Given the description of an element on the screen output the (x, y) to click on. 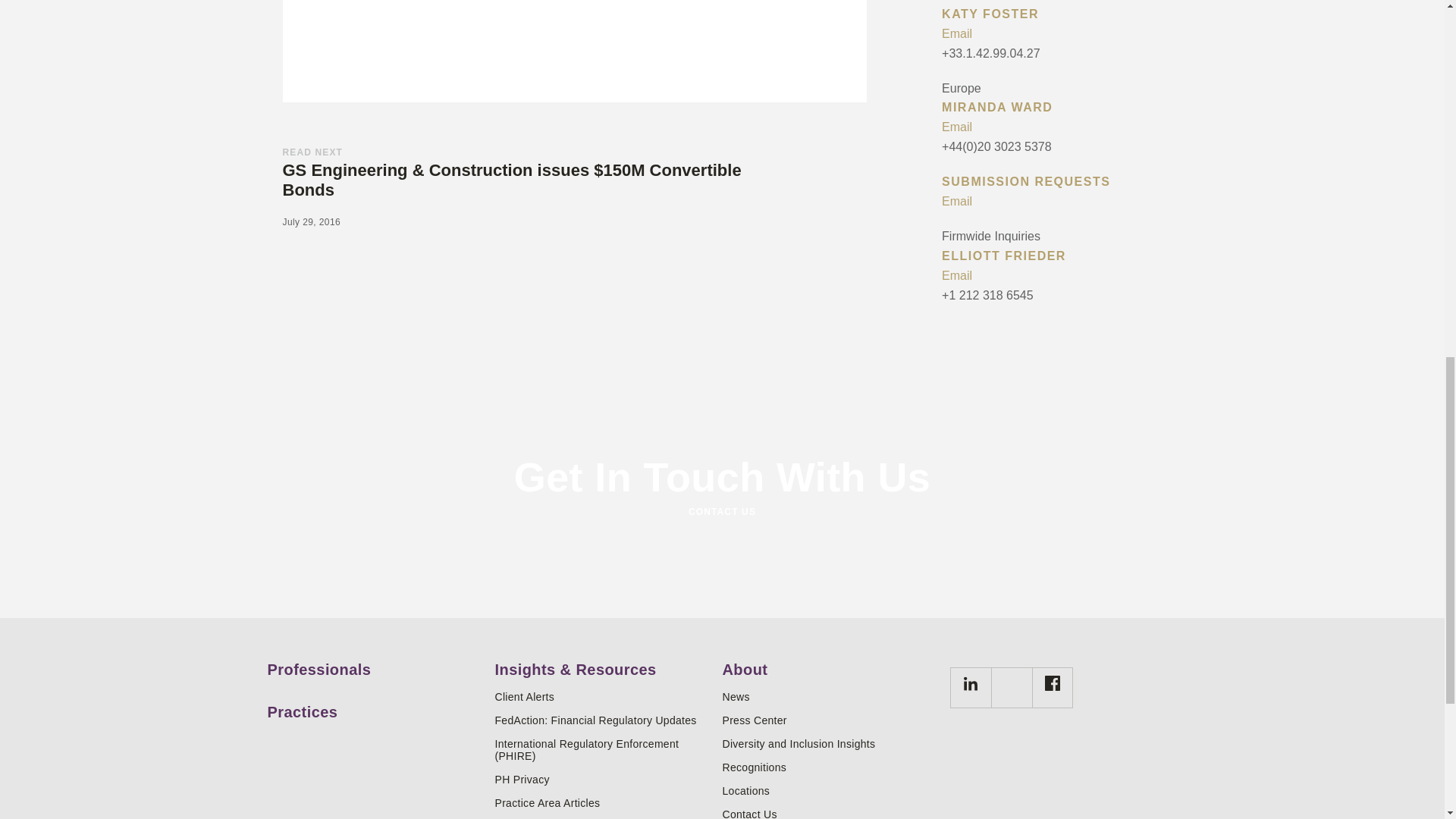
Email (1059, 34)
PH Privacy (602, 779)
Diversity and Inclusion Insights (829, 743)
Practice Area Articles (602, 802)
Contact Us (829, 813)
Email (1059, 275)
Professionals (374, 663)
Locations (829, 790)
CB6A0679-7CD4-47AB-9AF9-079521319001Created with sketchtool. (969, 683)
CONTACT US (721, 511)
